Given the description of an element on the screen output the (x, y) to click on. 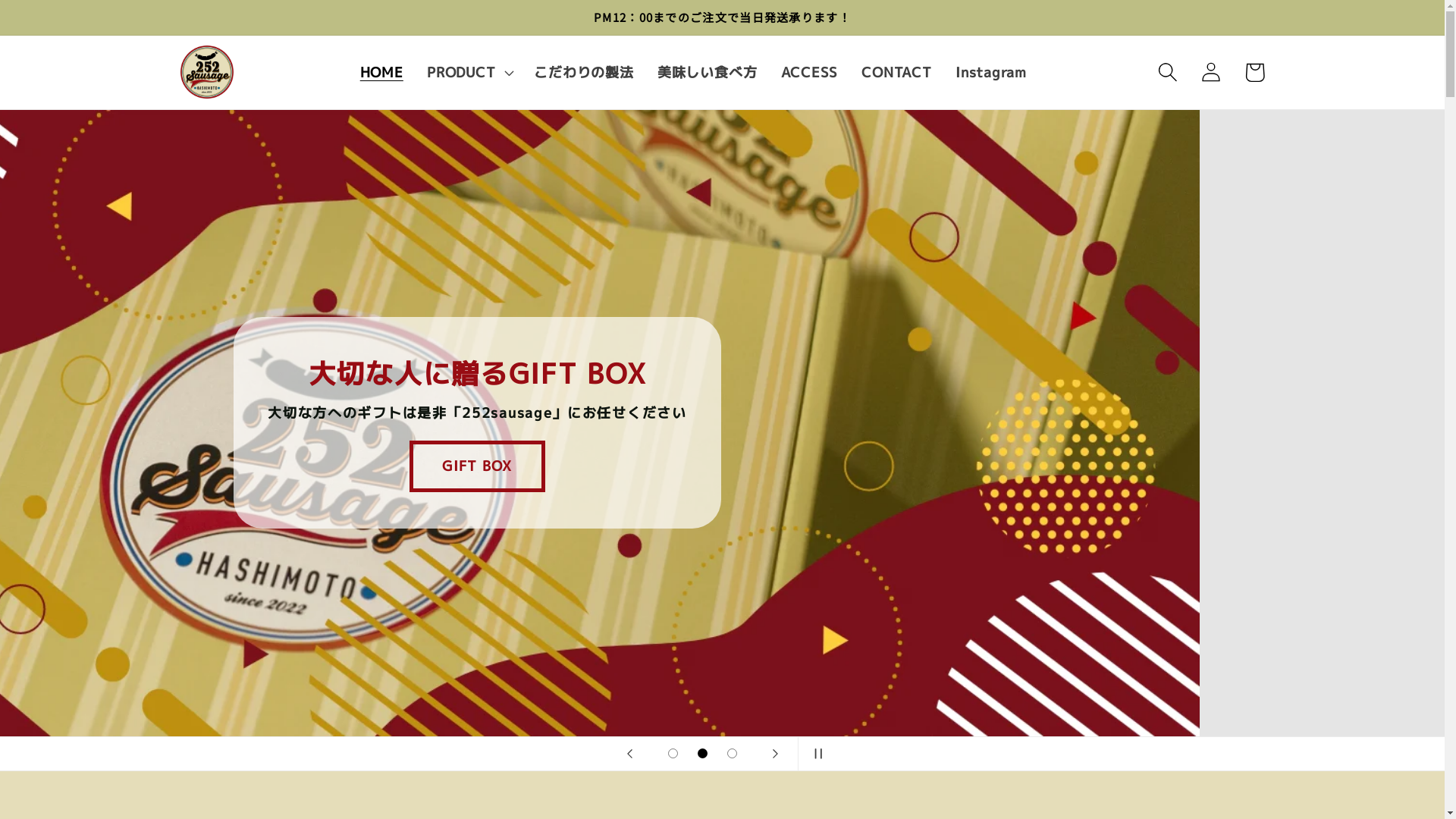
HOME Element type: text (381, 71)
ACCESS Element type: text (809, 71)
CONTACT Element type: text (897, 71)
GIFT BOX Element type: text (721, 466)
Instagram Element type: text (990, 71)
